Given the description of an element on the screen output the (x, y) to click on. 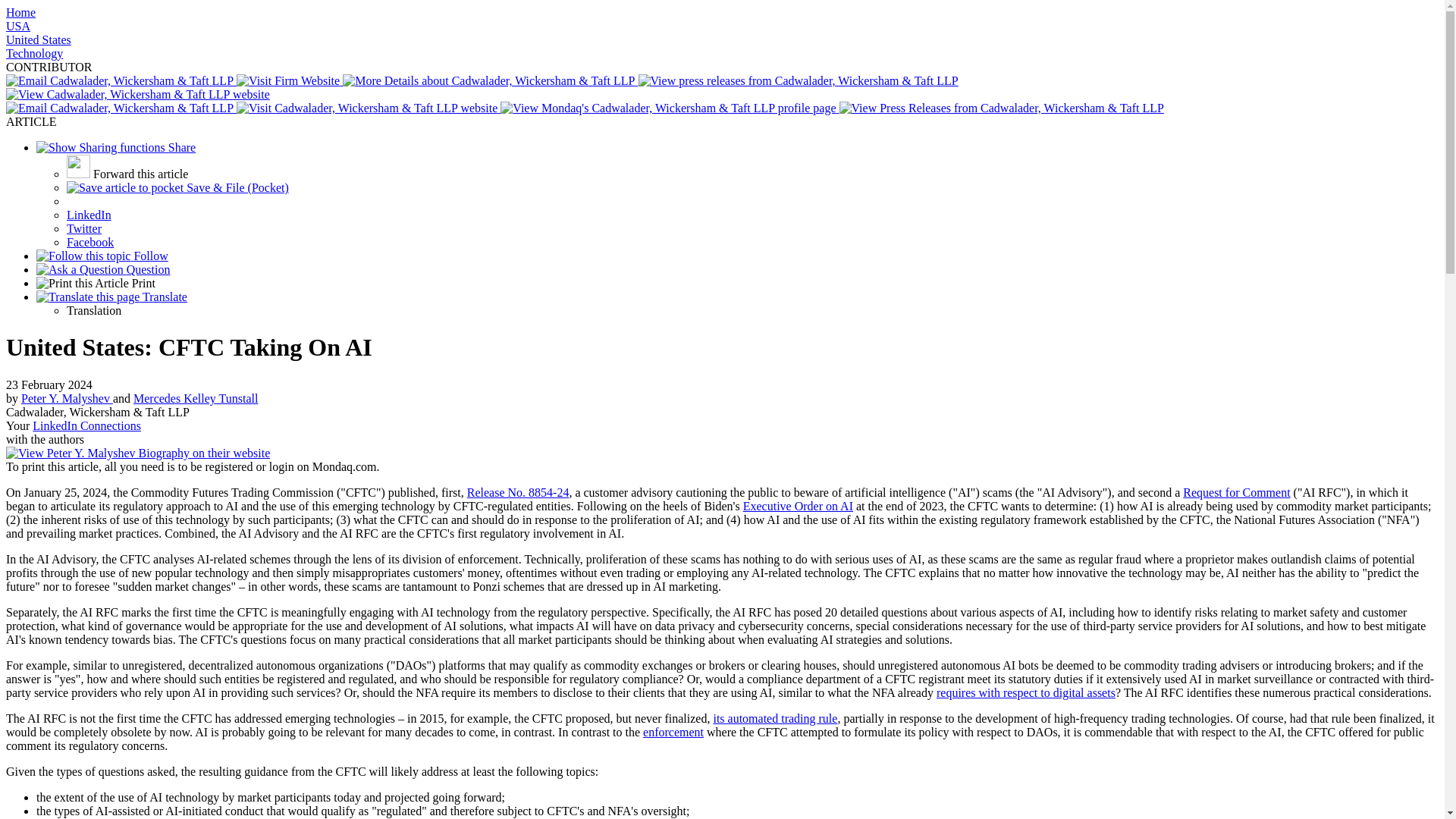
Translate (111, 296)
Print (95, 282)
United States (38, 39)
Technology (33, 52)
Question (103, 269)
requires with respect to digital assets (1025, 692)
enforcement (673, 731)
Facebook (89, 241)
USA (17, 25)
View this authors biography on their website (195, 398)
Mercedes Kelley Tunstall (195, 398)
Share (115, 146)
Twitter (83, 228)
LinkedIn (89, 214)
Home (19, 11)
